Given the description of an element on the screen output the (x, y) to click on. 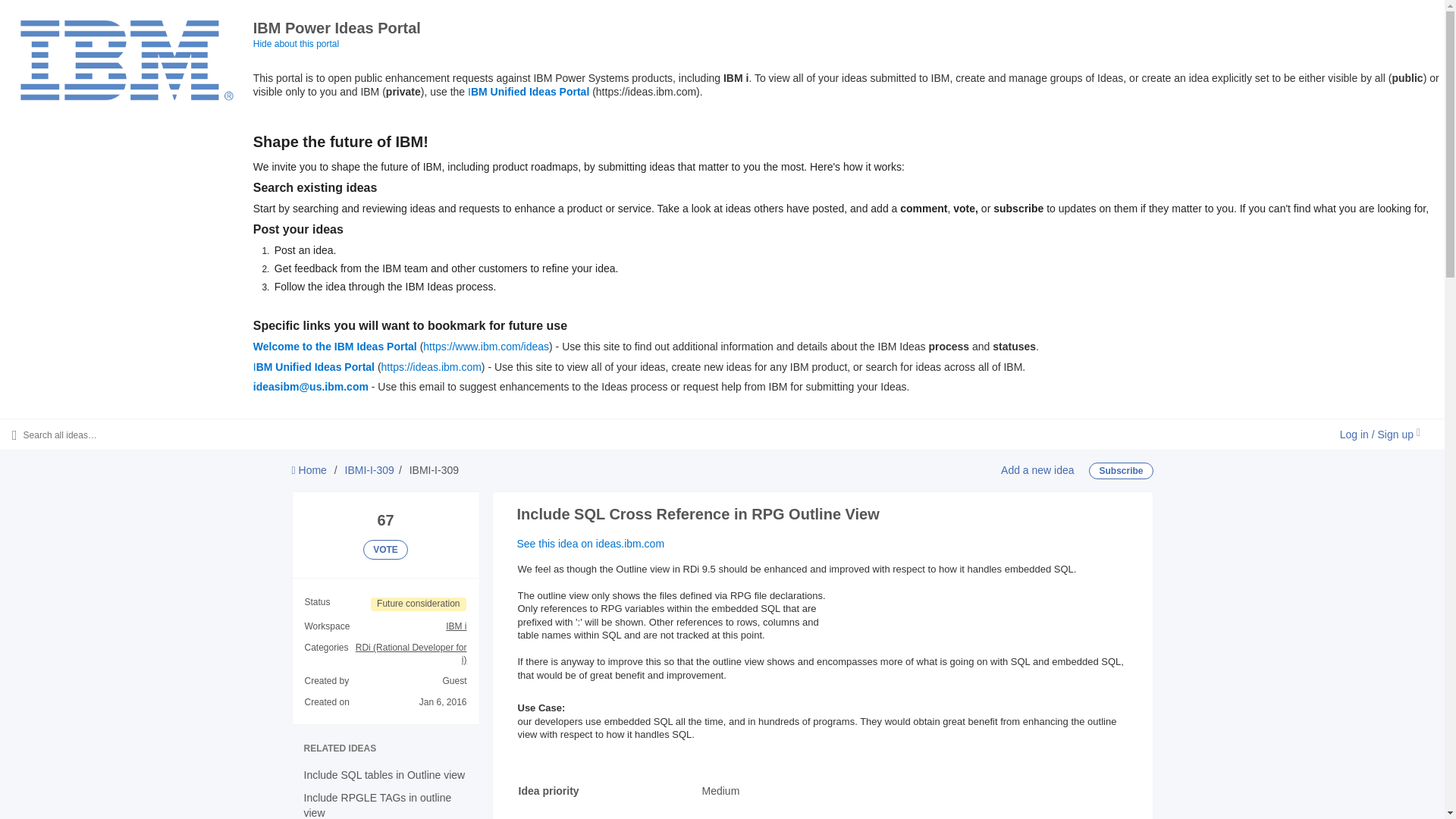
Include RPGLE TAGs in outline view (376, 805)
IBMI-I-309 (369, 469)
Include SQL tables in Outline view (383, 775)
IBM i (455, 626)
IBM Unified Ideas Portal (528, 91)
Add a new idea (1037, 469)
Welcome to the IBM Ideas Portal (334, 346)
Home (310, 469)
See this idea on ideas.ibm.com (590, 543)
Subscribe (1121, 470)
IBM Unified Ideas Portal (313, 367)
Future consideration (418, 603)
Hide about this portal (296, 43)
VOTE (385, 549)
